Given the description of an element on the screen output the (x, y) to click on. 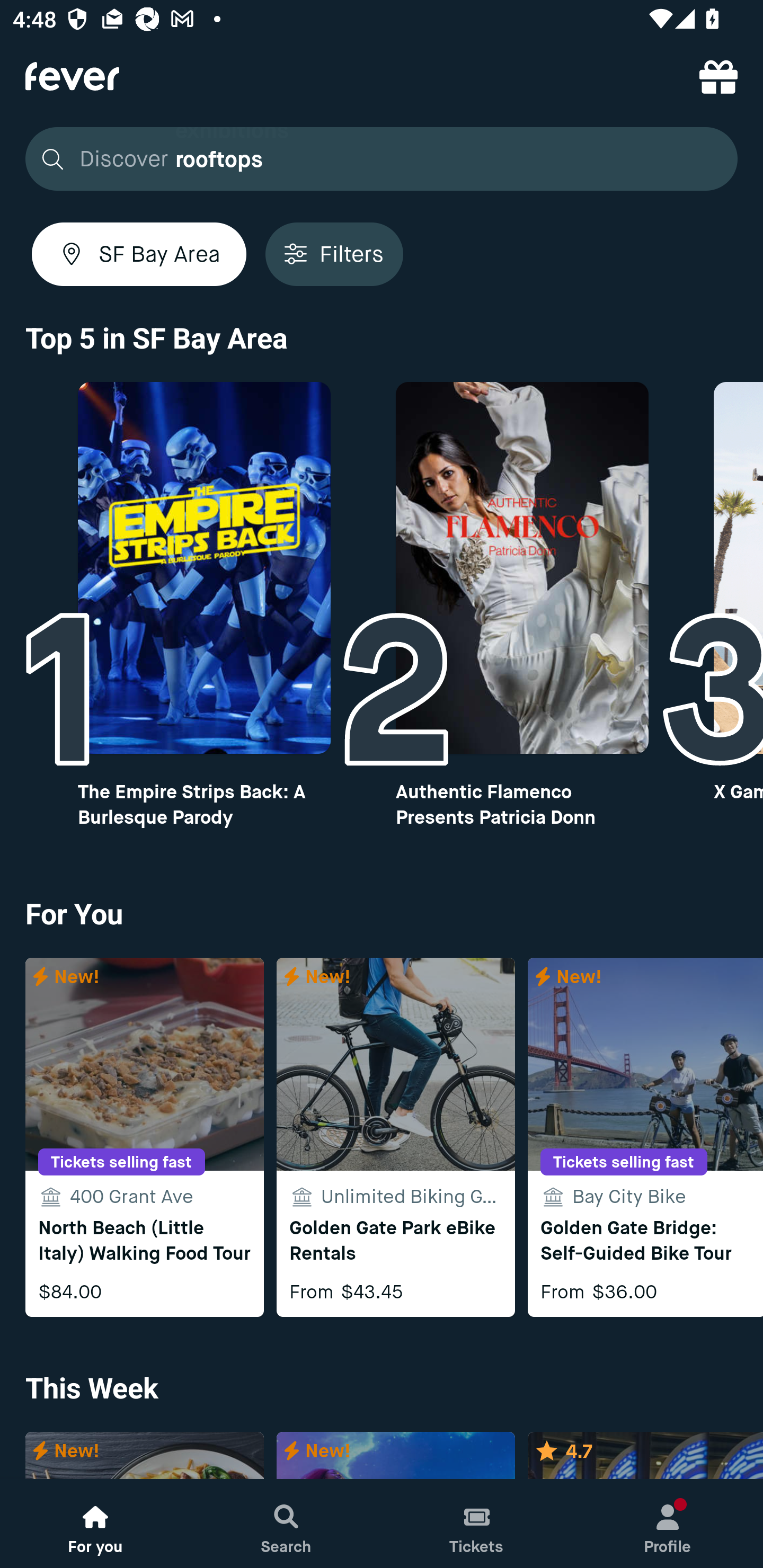
referral (718, 75)
Discover exhibitions rooftops (381, 158)
Discover exhibitions rooftops (376, 158)
SF Bay Area (139, 253)
Filters (333, 253)
Top10 image (203, 568)
Top10 image (521, 568)
Search (285, 1523)
Tickets (476, 1523)
Profile, New notification Profile (667, 1523)
